Given the description of an element on the screen output the (x, y) to click on. 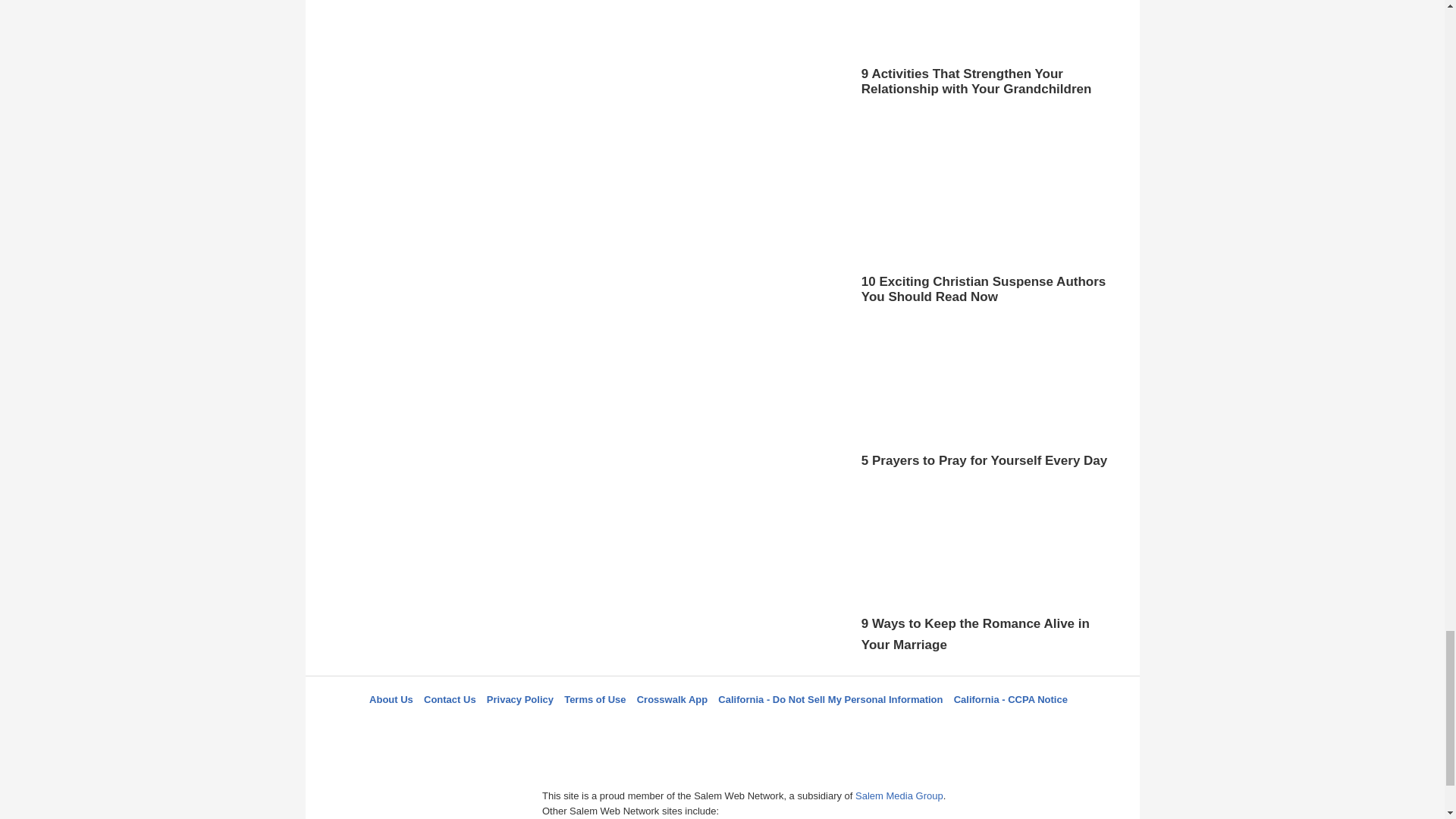
YouTube (795, 726)
Facebook (645, 726)
LifeAudio (719, 726)
Twitter (683, 726)
Pinterest (757, 726)
